Given the description of an element on the screen output the (x, y) to click on. 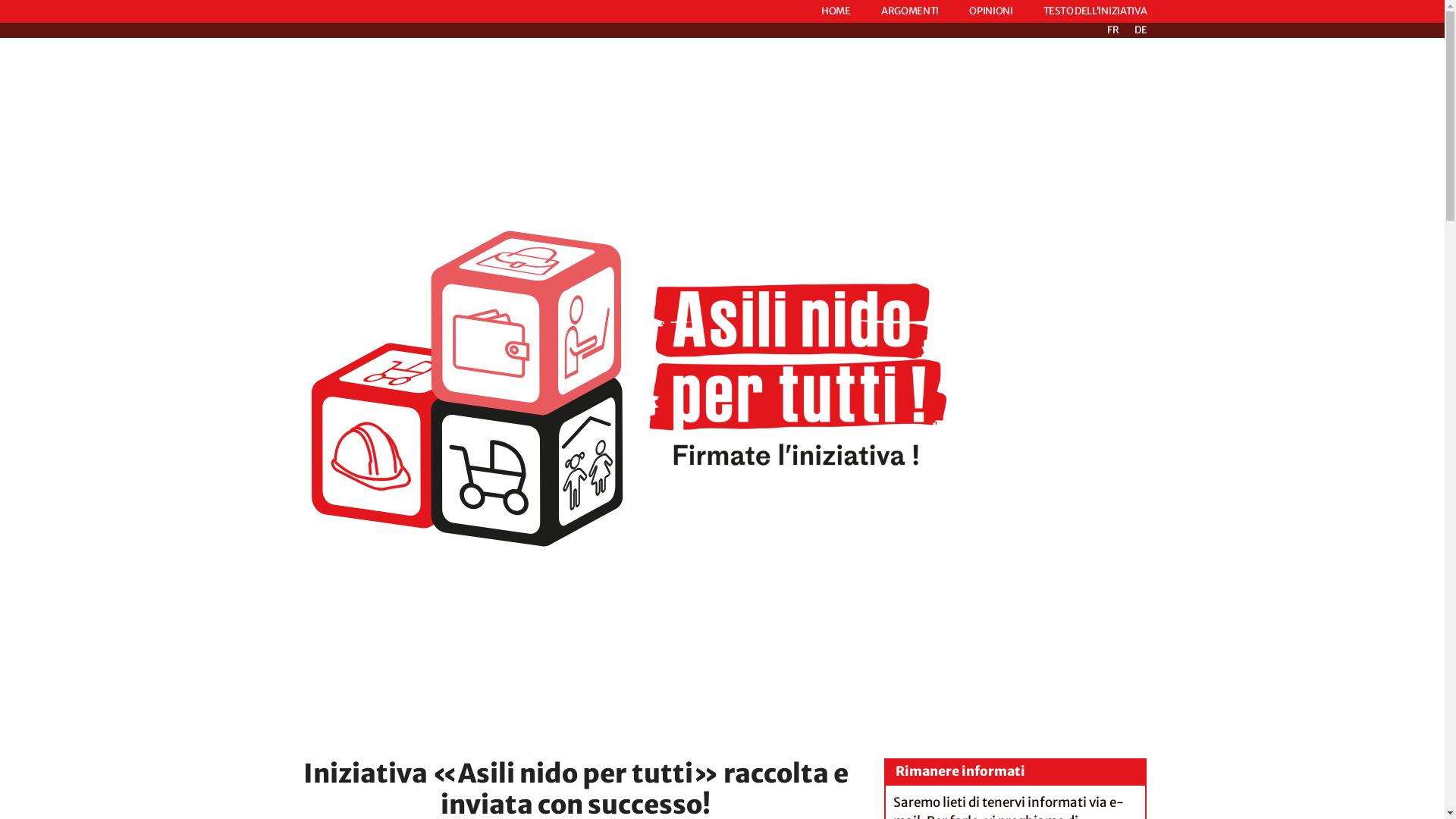
OPINIONI Element type: text (990, 11)
ARGOMENTI Element type: text (909, 11)
HOME Element type: text (836, 11)
DE Element type: text (1140, 29)
FR Element type: text (1112, 29)
